Given the description of an element on the screen output the (x, y) to click on. 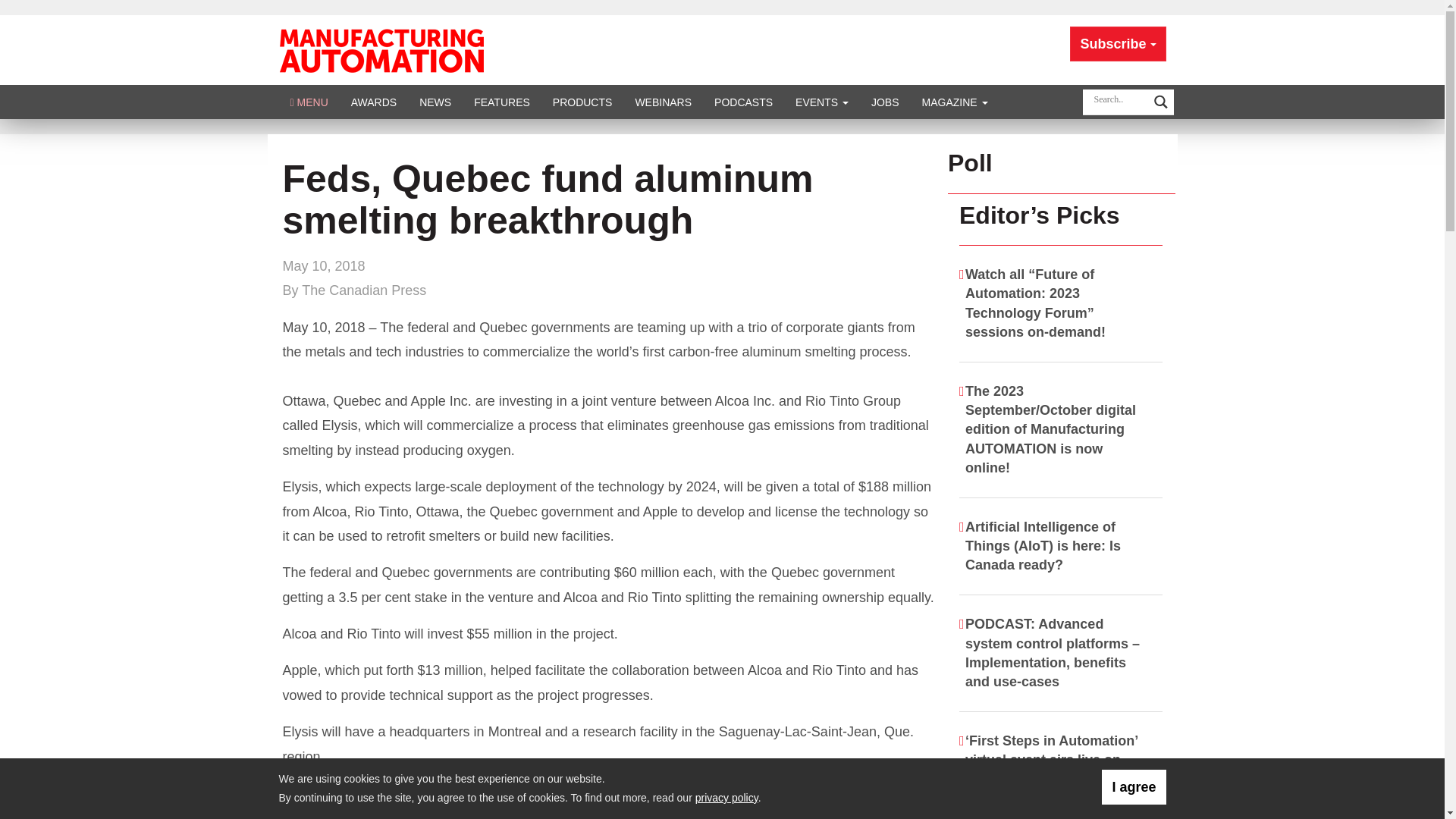
Subscribe (1118, 43)
AWARDS (373, 101)
EVENTS (822, 101)
JOBS (885, 101)
PRODUCTS (582, 101)
PODCASTS (743, 101)
NEWS (435, 101)
WEBINARS (663, 101)
MENU (309, 101)
MAGAZINE (954, 101)
FEATURES (502, 101)
Click to show site navigation (309, 101)
Manufacturing AUTOMATION (381, 48)
